Given the description of an element on the screen output the (x, y) to click on. 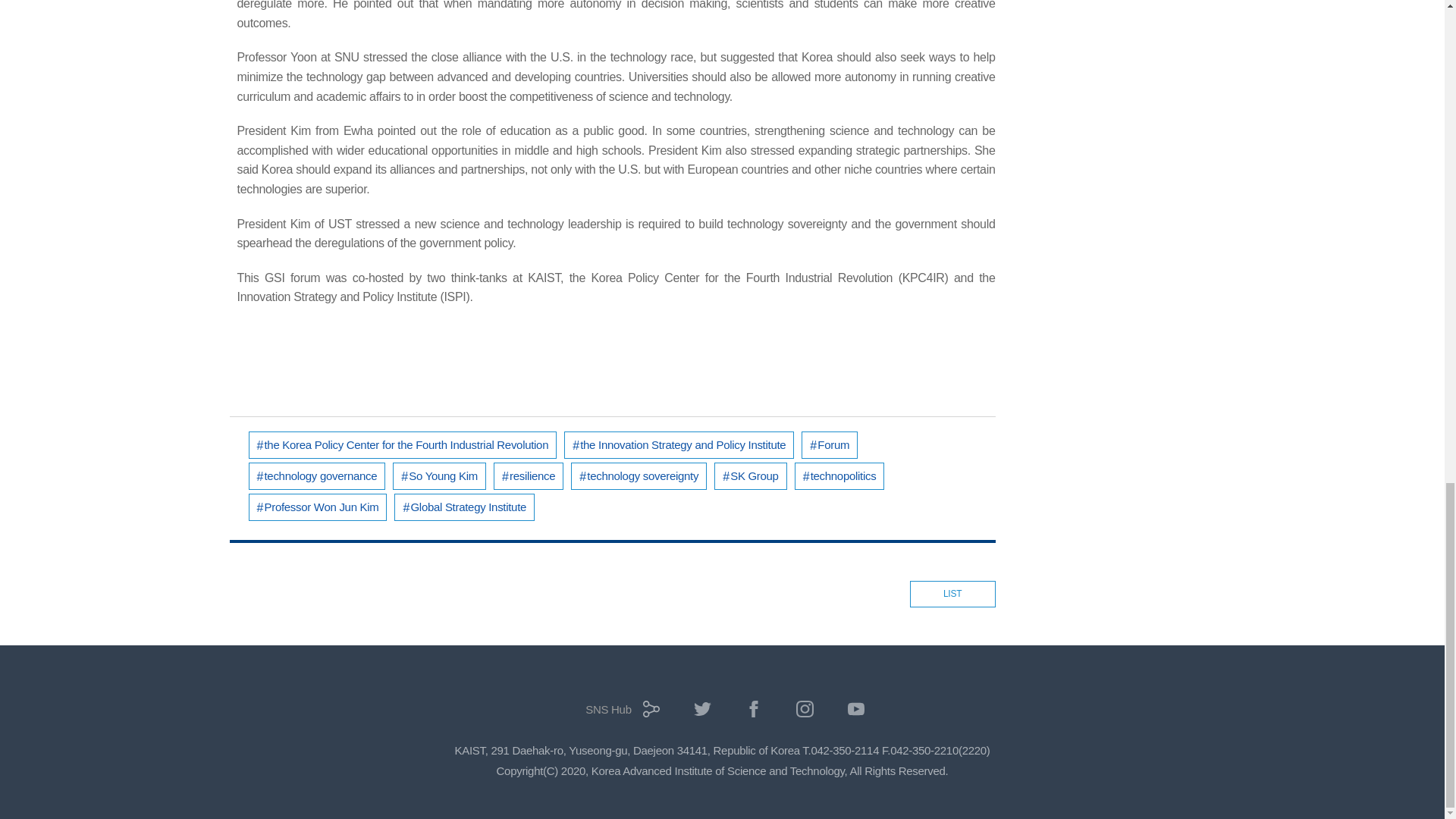
technology governance (316, 475)
Professor Won Jun Kim (317, 506)
SK Group (750, 475)
So Young Kim (439, 475)
Forum (829, 444)
resilience (528, 475)
technopolitics (839, 475)
LIST (952, 594)
technology sovereignty (638, 475)
the Korea Policy Center for the Fourth Industrial Revolution (402, 444)
Global Strategy Institute (464, 506)
the Innovation Strategy and Policy Institute (678, 444)
